Given the description of an element on the screen output the (x, y) to click on. 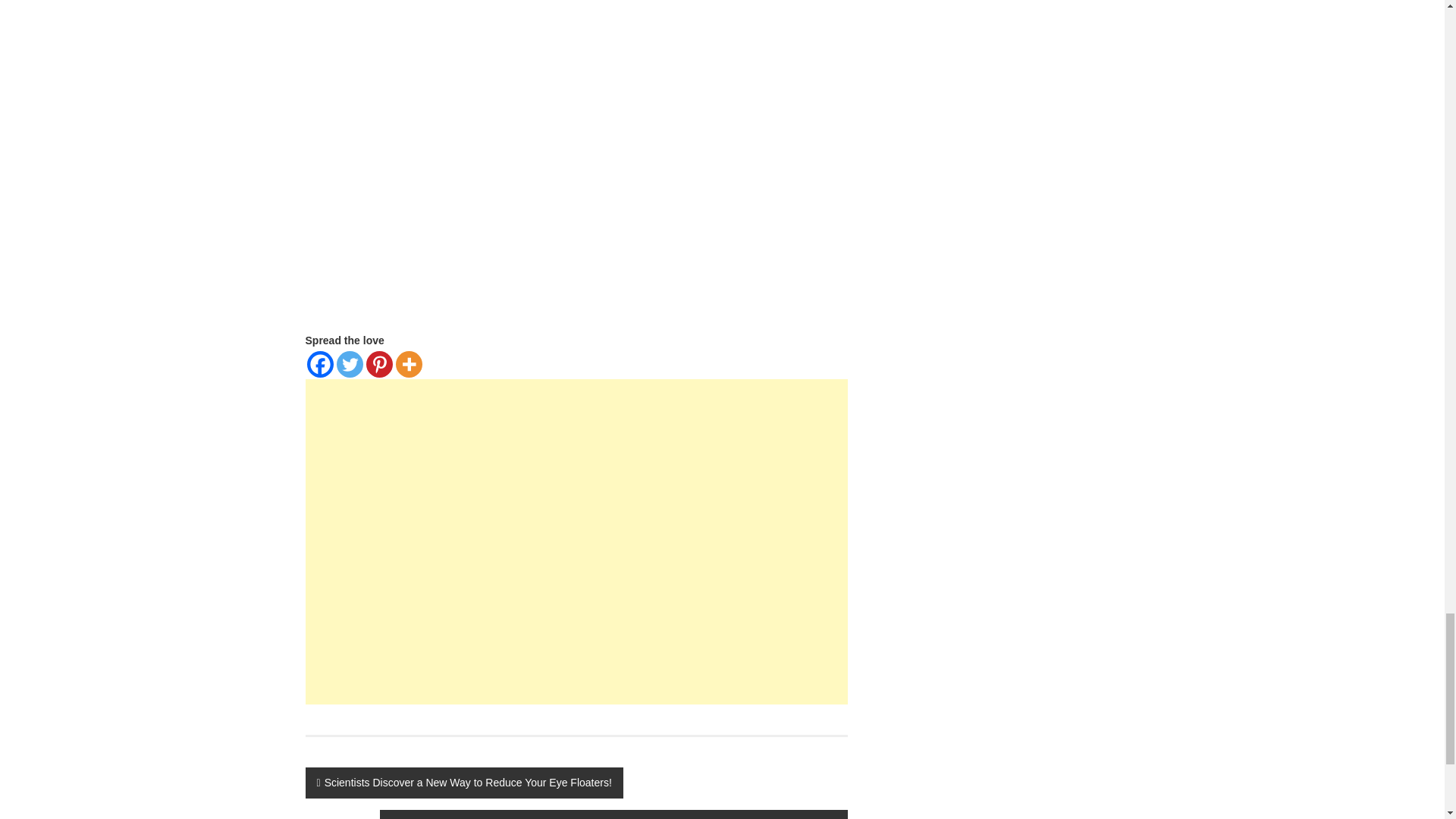
Scientists Discover a New Way to Reduce Your Eye Floaters! (463, 782)
Facebook (319, 364)
More (409, 364)
Twitter (349, 364)
Pinterest (378, 364)
